Given the description of an element on the screen output the (x, y) to click on. 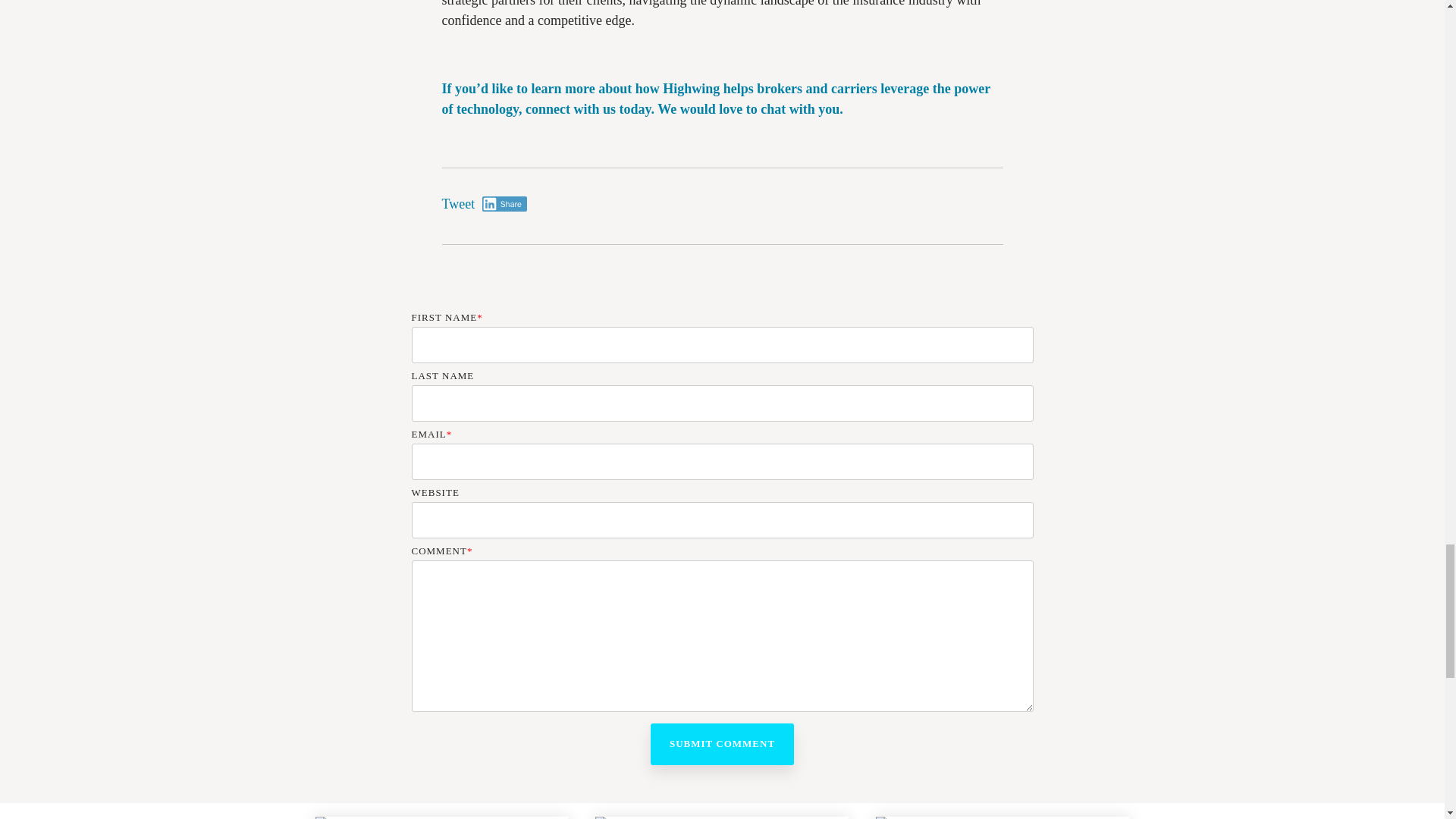
Submit Comment (721, 743)
